Given the description of an element on the screen output the (x, y) to click on. 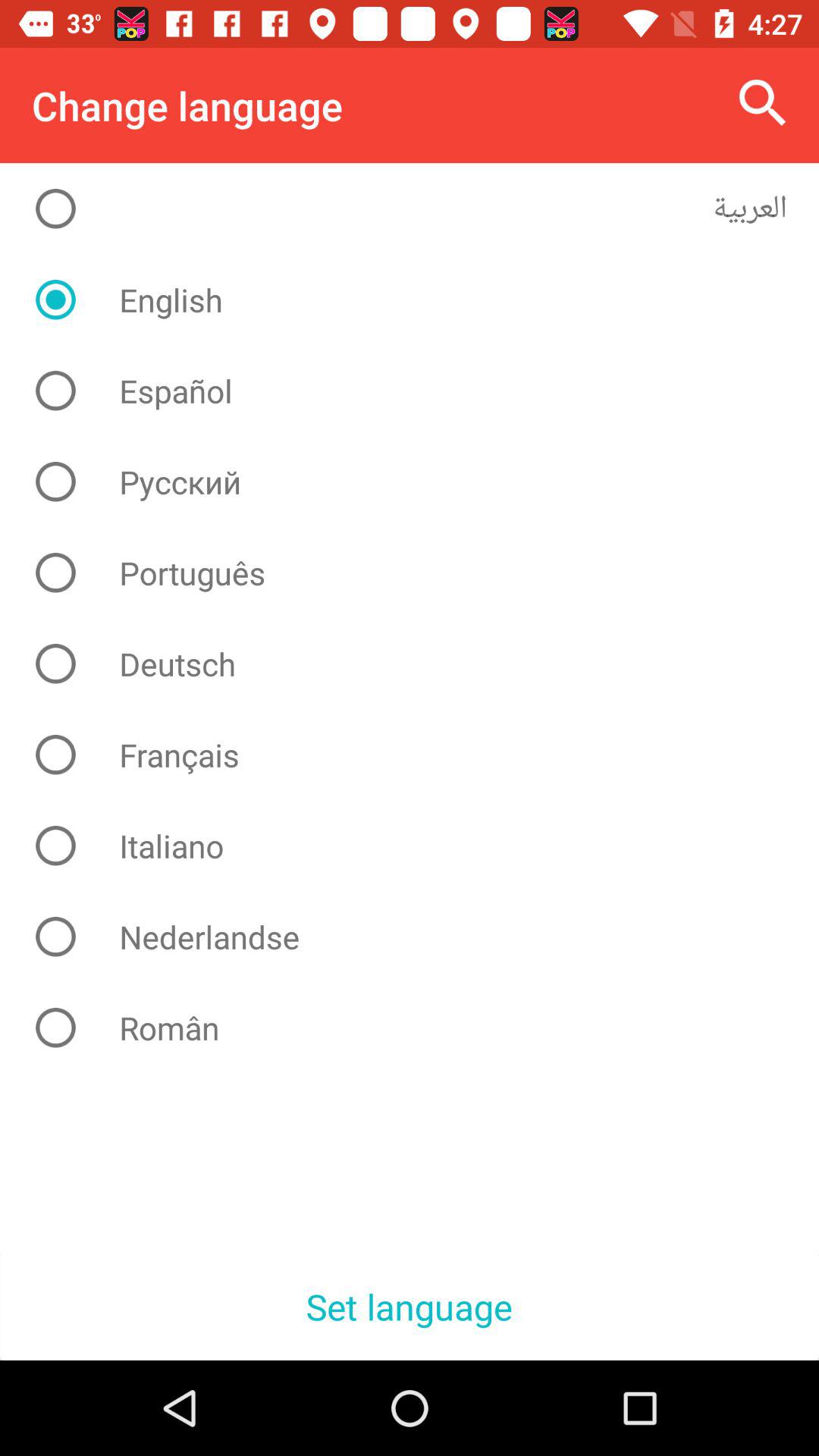
choose item next to change language icon (763, 103)
